Given the description of an element on the screen output the (x, y) to click on. 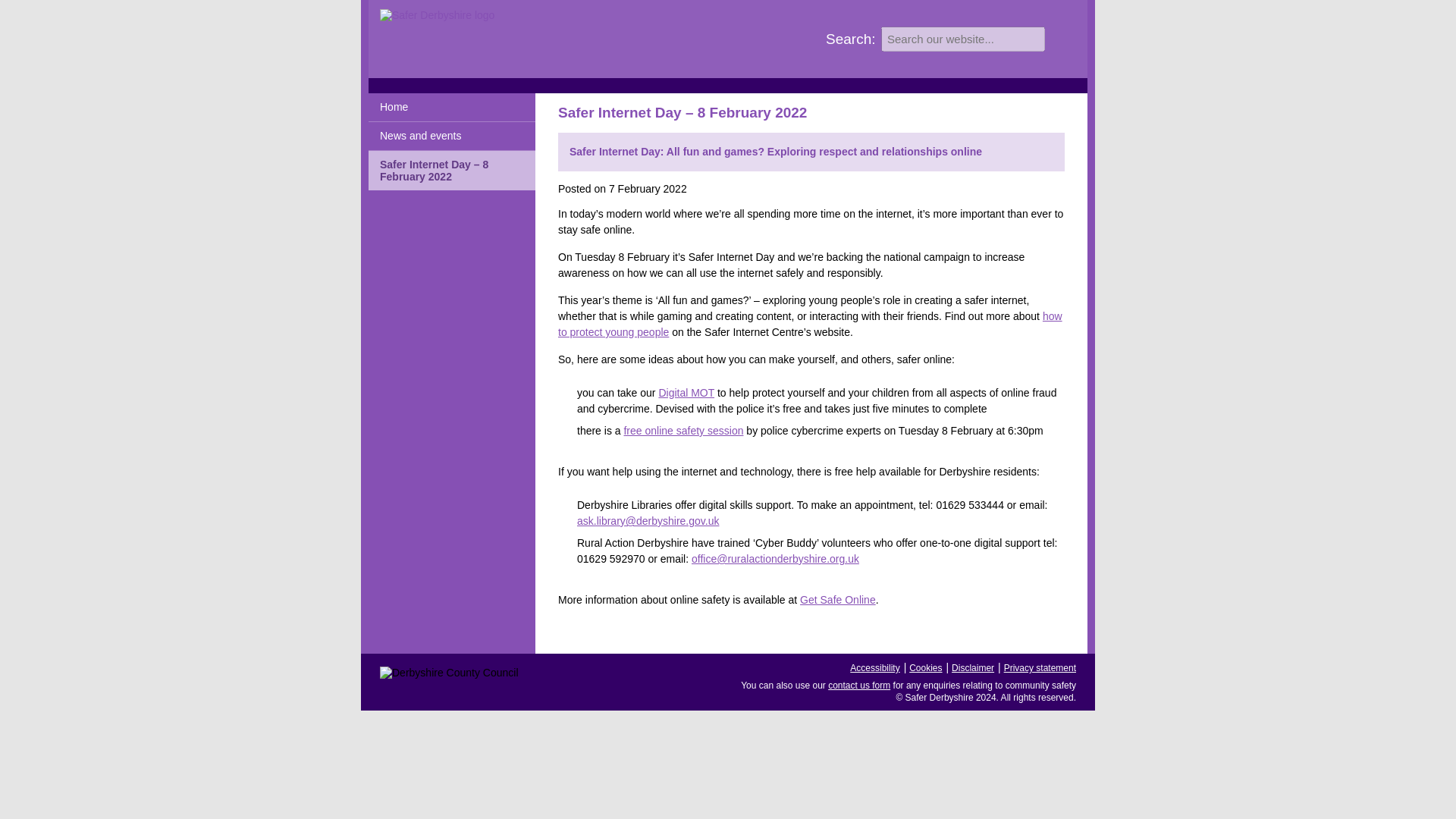
Privacy statement (1039, 667)
contact us form (858, 685)
Welcome to a safer Derbyshire (451, 107)
Search (1059, 38)
Home (451, 107)
News and events (451, 136)
Police cybercrime event on Eventbrite booking website (682, 430)
Search (1059, 38)
Welcome to your Digital MOT (686, 392)
free online safety session (682, 430)
